Given the description of an element on the screen output the (x, y) to click on. 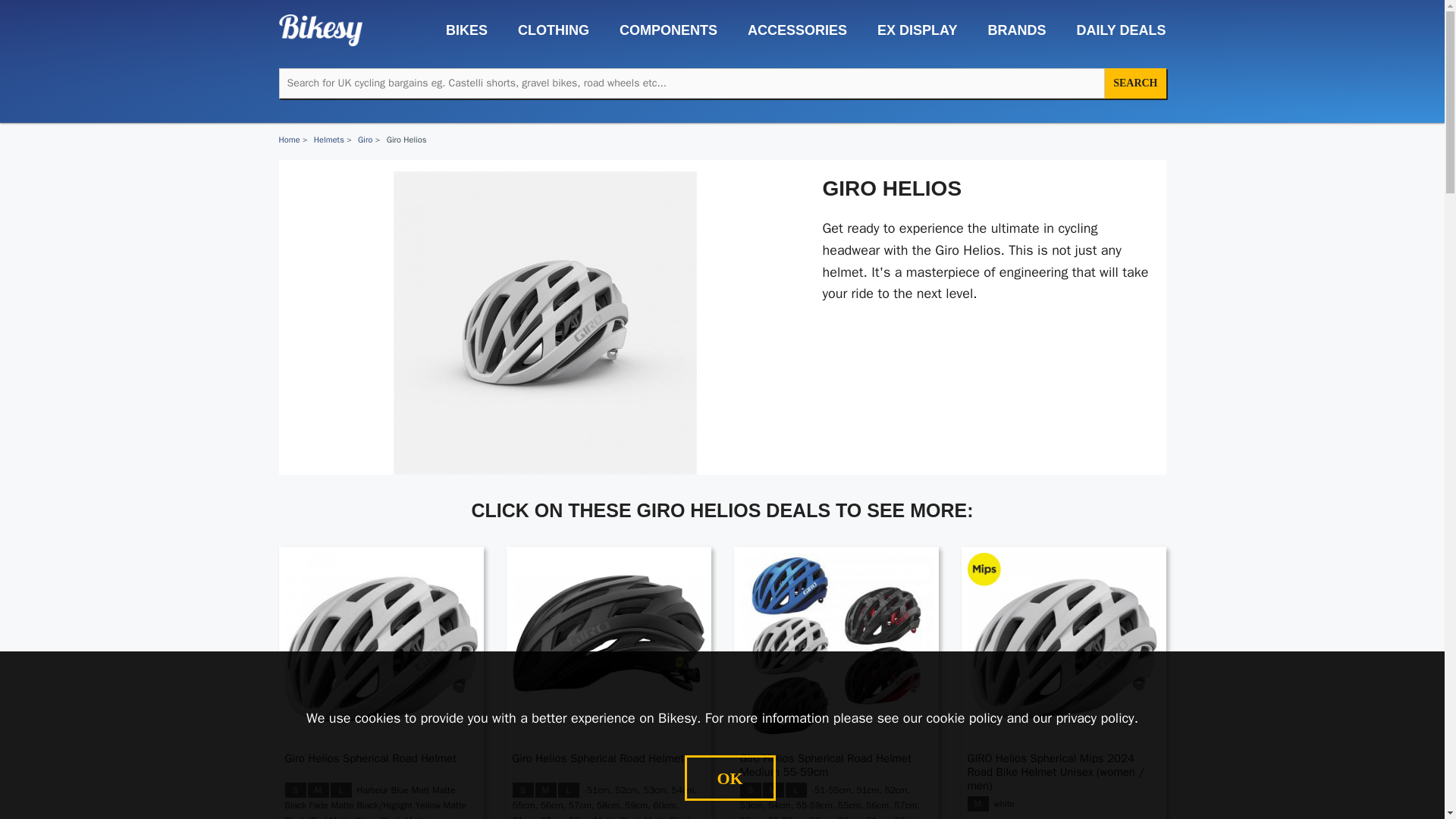
CLOTHING (545, 30)
Bikesy privacy policy (1094, 718)
BRANDS (1008, 30)
COMPONENTS (660, 30)
Bikesy (320, 30)
Search (1135, 82)
Helmets (328, 139)
Giro (365, 139)
Bikesy cookie policy (964, 718)
Search (1135, 82)
BIKES (458, 30)
ACCESSORIES (789, 30)
EX DISPLAY (908, 30)
Search (1135, 82)
Search for: (692, 82)
